Given the description of an element on the screen output the (x, y) to click on. 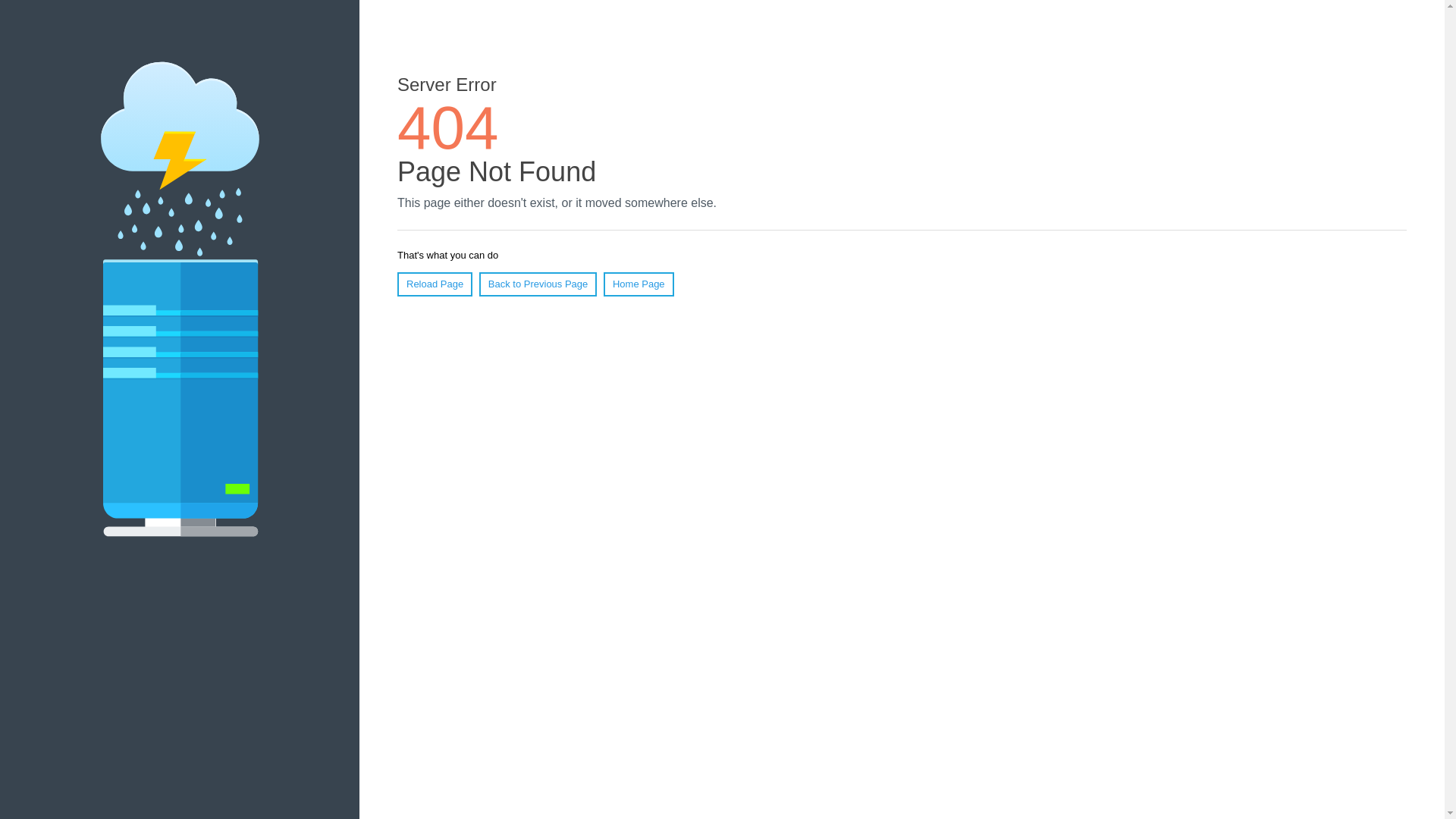
Back to Previous Page Element type: text (538, 284)
Reload Page Element type: text (434, 284)
Home Page Element type: text (638, 284)
